Given the description of an element on the screen output the (x, y) to click on. 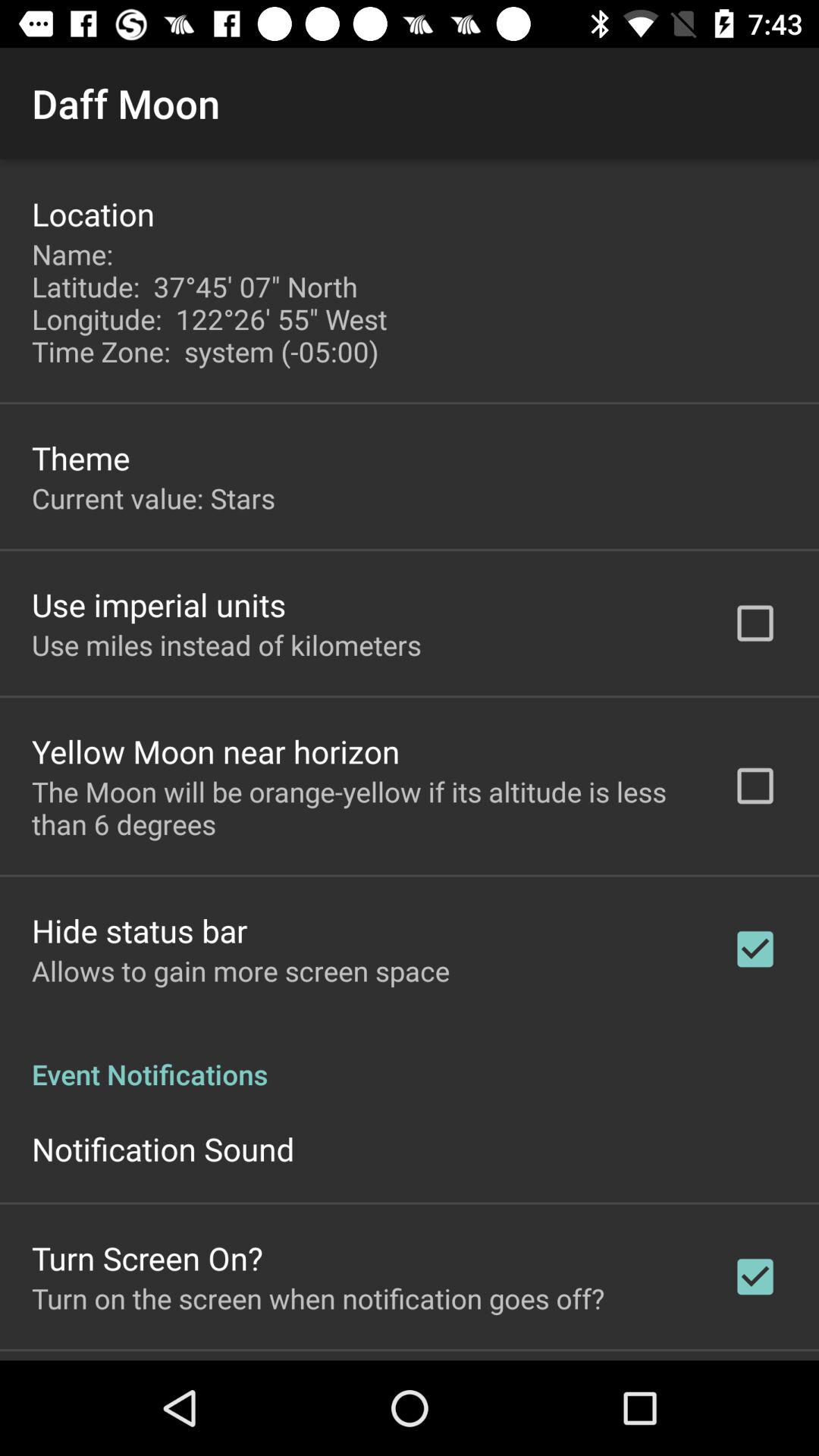
swipe until the hide status bar icon (139, 930)
